Given the description of an element on the screen output the (x, y) to click on. 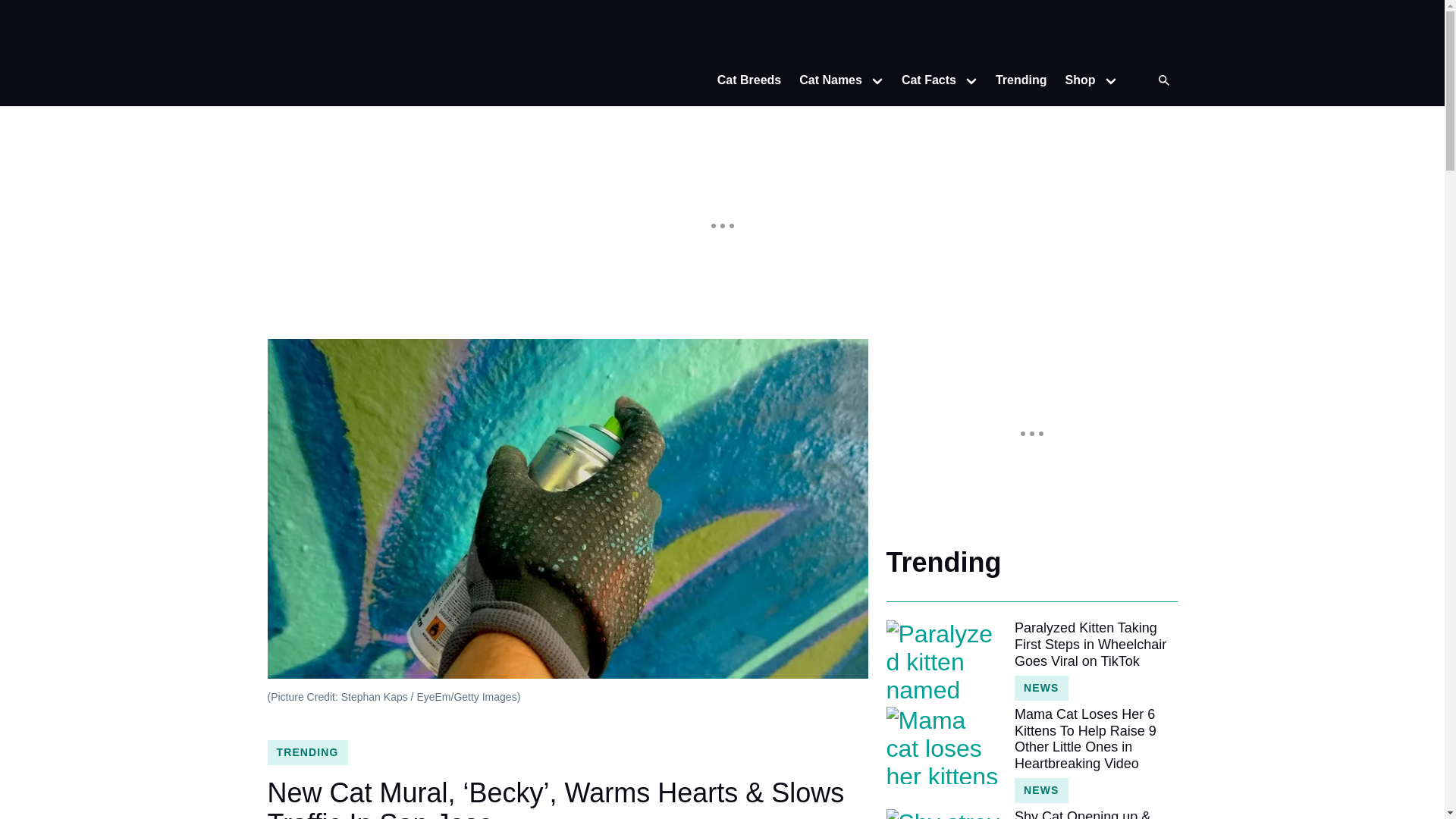
Pinterest (1161, 33)
TRENDING (306, 752)
Cat Names (825, 80)
Cat Facts (924, 80)
Open menu (876, 80)
Open menu (971, 80)
Trending (1022, 80)
